Given the description of an element on the screen output the (x, y) to click on. 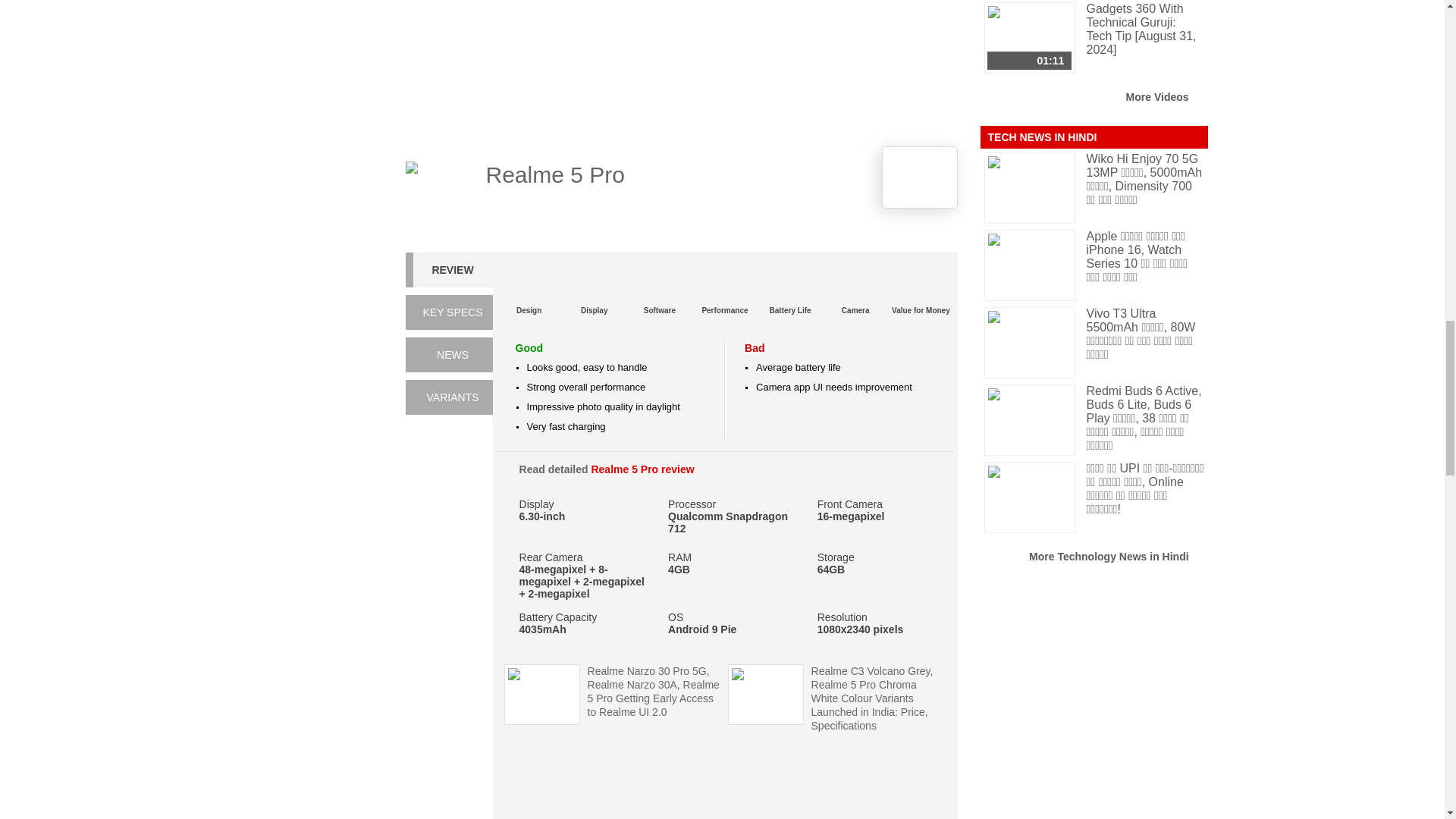
Realme 5 Pro review (642, 469)
Realme 5 Pro Review (452, 269)
Realme 5 Pro (554, 174)
Realme 5 Pro (440, 192)
Realme 5 Pro News (452, 354)
Realme 5 Pro (554, 174)
